Given the description of an element on the screen output the (x, y) to click on. 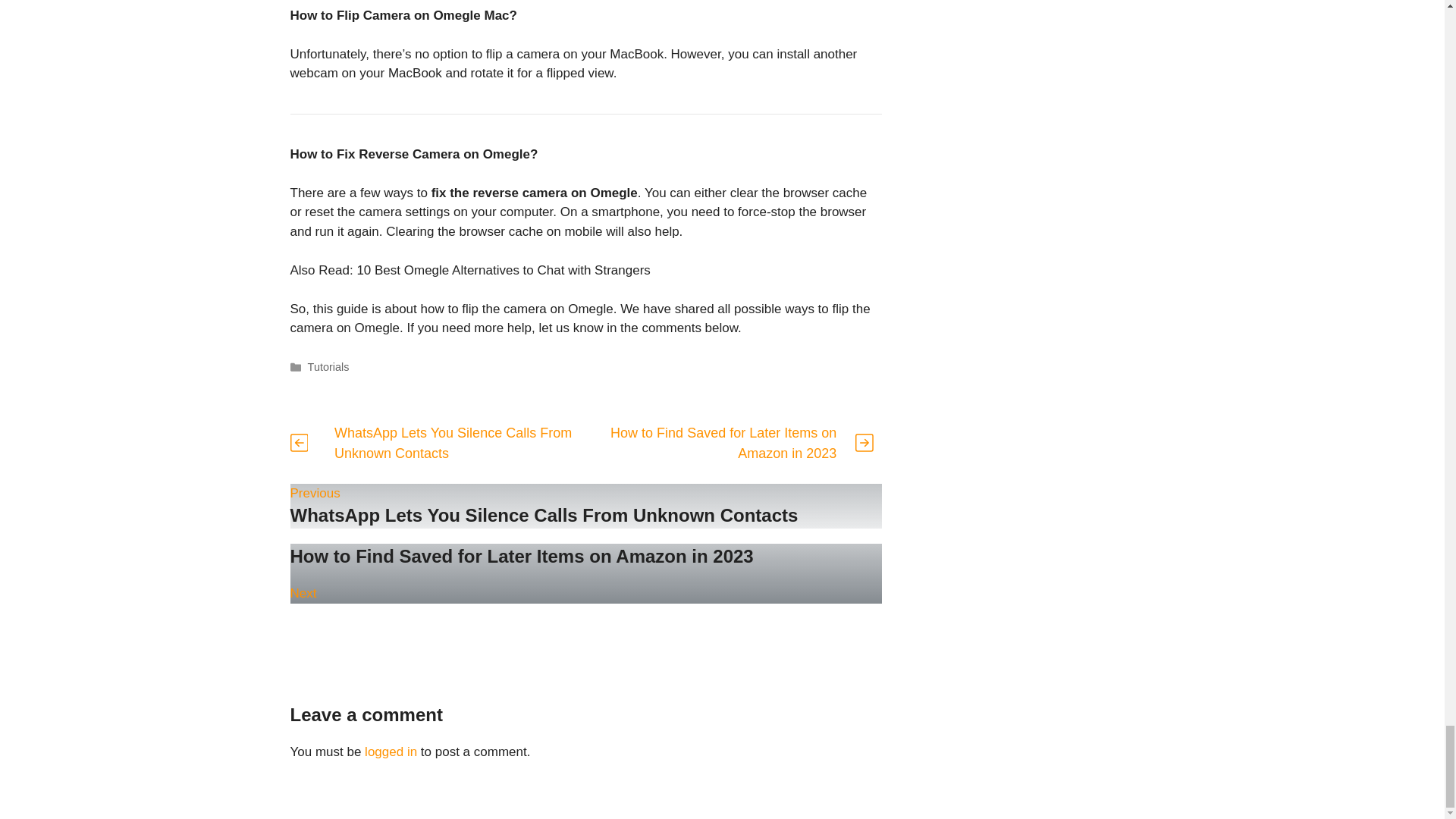
Tutorials (584, 573)
WhatsApp Lets You Silence Calls From Unknown Contacts (328, 367)
How to Find Saved for Later Items on Amazon in 2023 (453, 443)
